Given the description of an element on the screen output the (x, y) to click on. 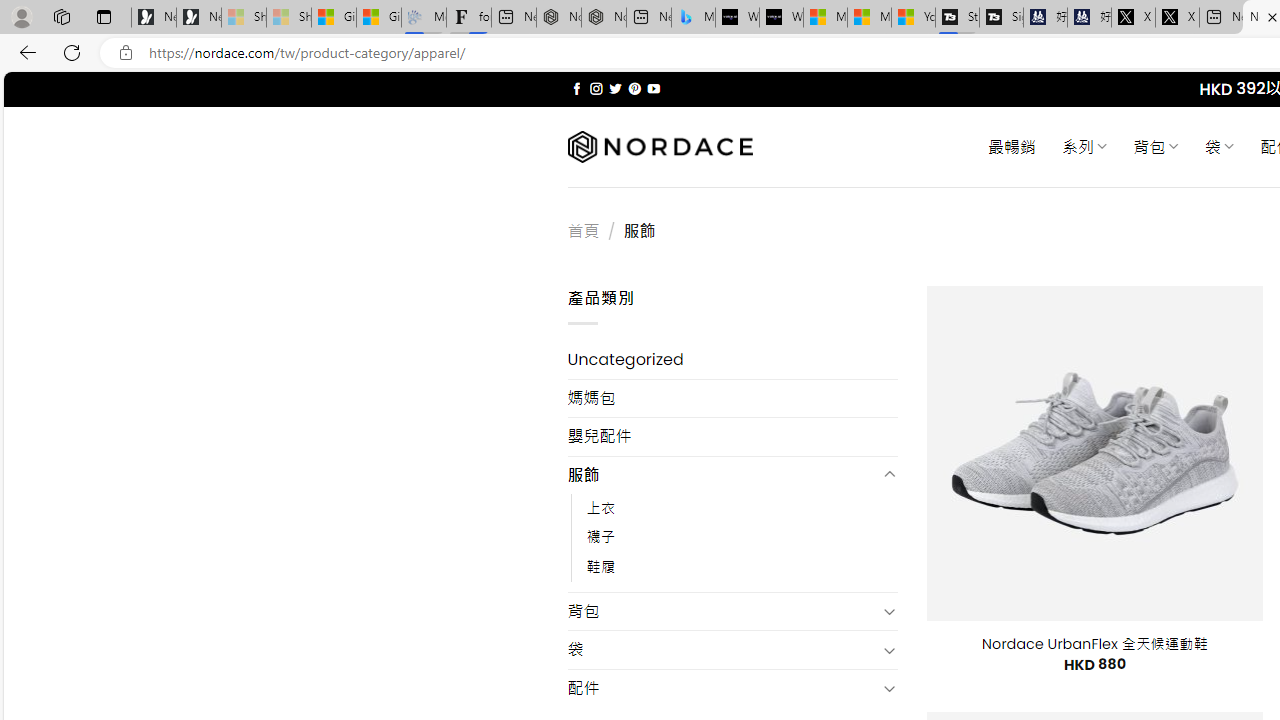
Follow on Pinterest (634, 88)
Uncategorized (732, 359)
Gilma and Hector both pose tropical trouble for Hawaii (378, 17)
Microsoft Bing Travel - Shangri-La Hotel Bangkok (693, 17)
